Given the description of an element on the screen output the (x, y) to click on. 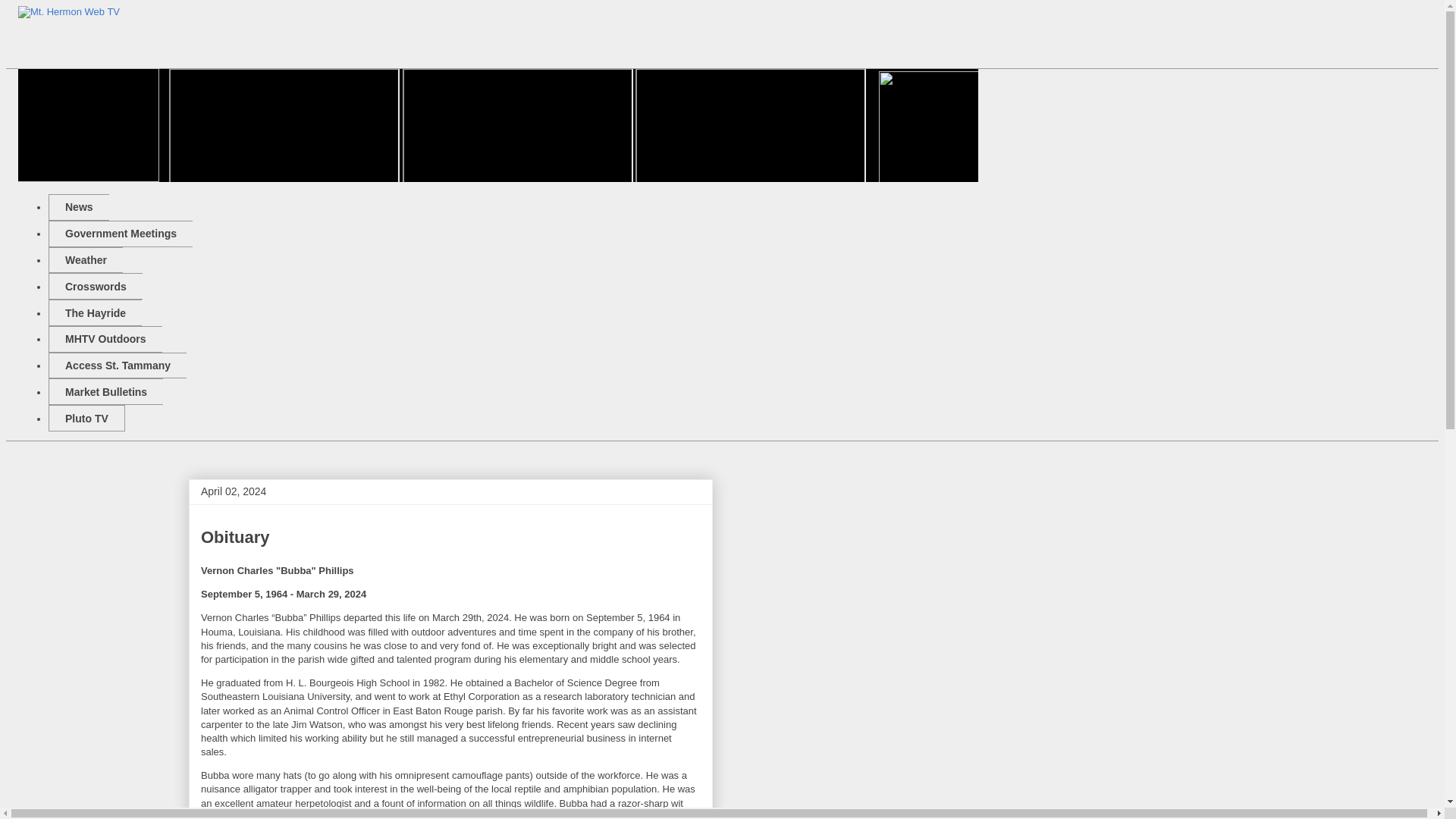
Weather (85, 260)
The Hayride (94, 312)
Pluto TV (86, 417)
Crosswords (95, 285)
News (78, 207)
Government Meetings (120, 233)
Access St. Tammany (117, 365)
MHTV Outdoors (104, 338)
Market Bulletins (105, 391)
